Given the description of an element on the screen output the (x, y) to click on. 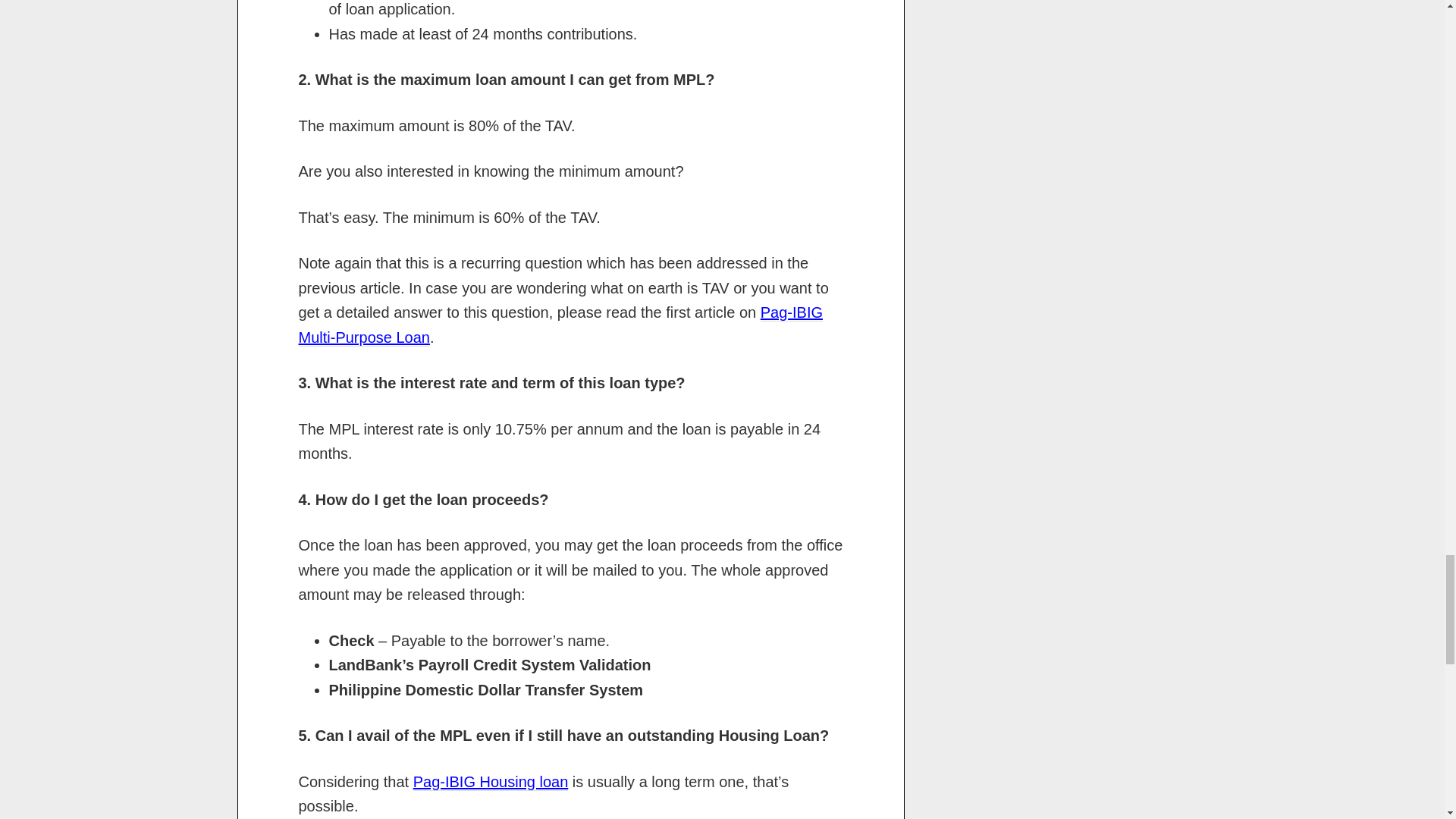
Pag-IBIG Housing loan (491, 782)
New Philippine Peso Bills - 2010 (765, 14)
Pag-IBIG Multi-Purpose Loan (561, 324)
